Given the description of an element on the screen output the (x, y) to click on. 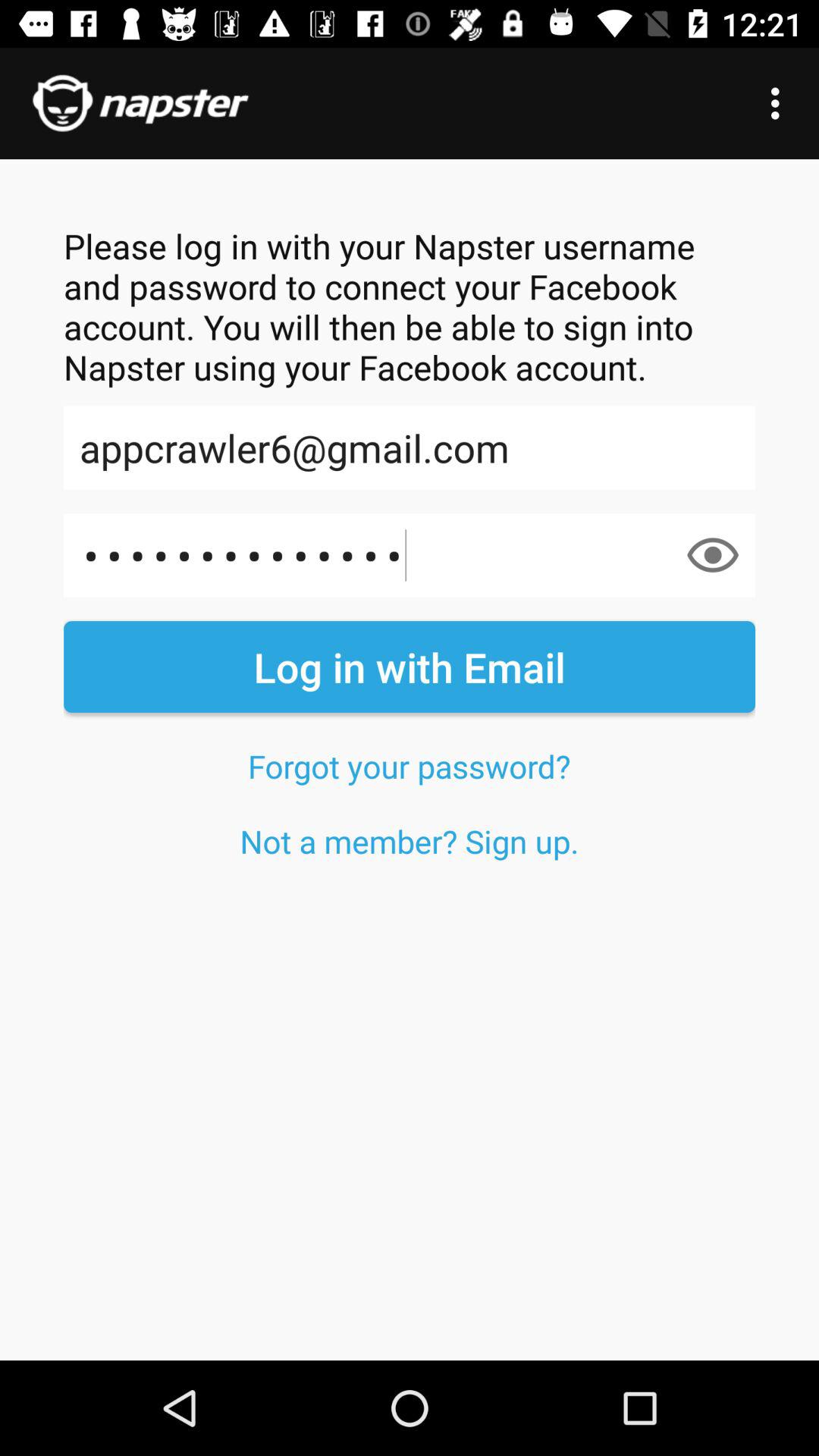
select the icon above the please log in item (779, 103)
